Given the description of an element on the screen output the (x, y) to click on. 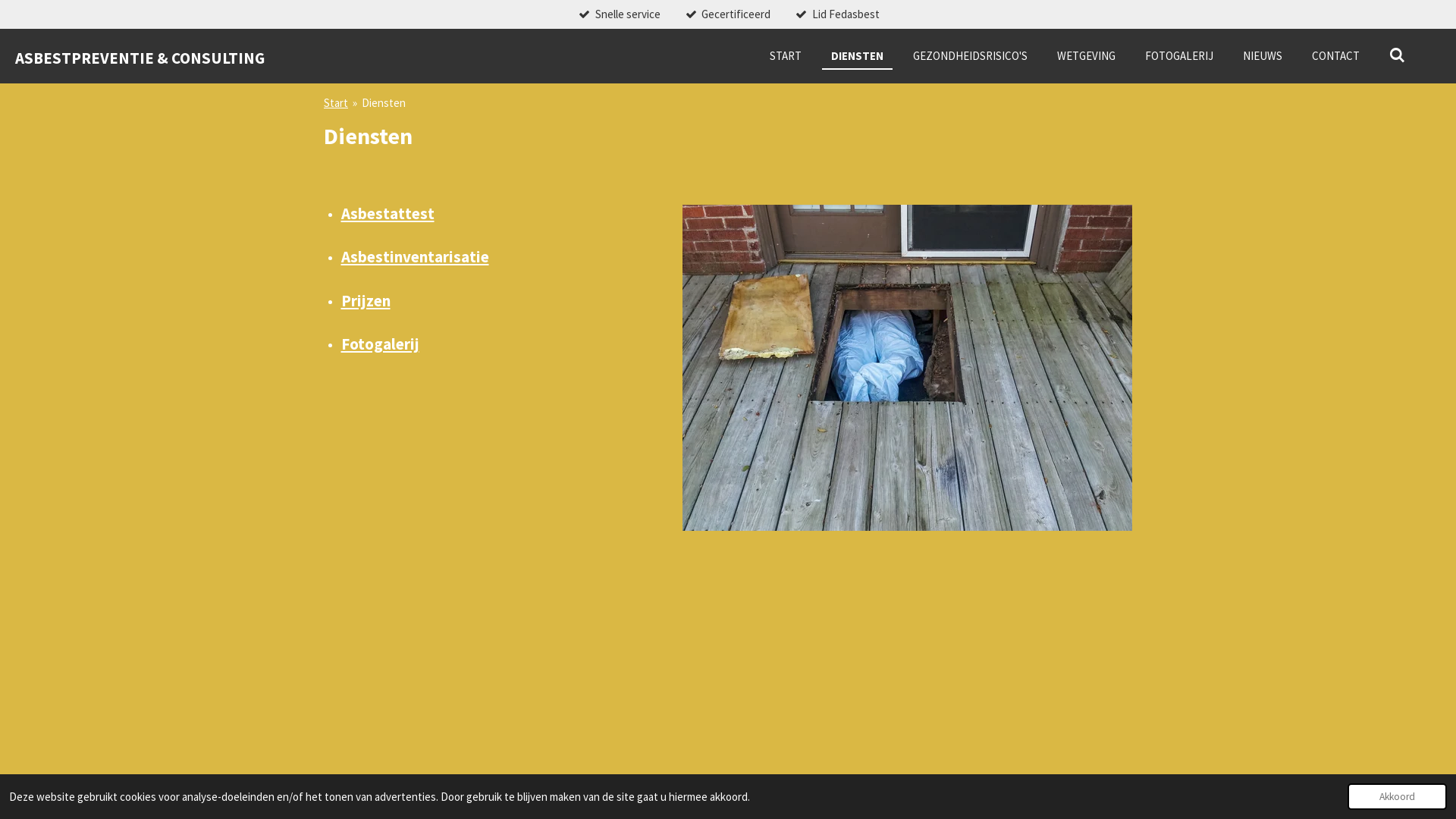
Start Element type: text (335, 102)
WETGEVING Element type: text (1086, 56)
Zoeken Element type: hover (1397, 56)
Fotogalerij Element type: text (380, 343)
CONTACT Element type: text (1335, 56)
Diensten Element type: text (383, 102)
START Element type: text (785, 56)
Akkoord Element type: text (1396, 796)
DIENSTEN Element type: text (857, 56)
Asbestattest Element type: text (387, 213)
NIEUWS Element type: text (1262, 56)
FOTOGALERIJ Element type: text (1178, 56)
ASBESTPREVENTIE & CONSULTING Element type: text (139, 54)
JouwWeb Element type: text (1115, 799)
Prijzen Element type: text (365, 300)
GEZONDHEIDSRISICO'S Element type: text (969, 56)
Asbestinventarisatie Element type: text (415, 256)
